Given the description of an element on the screen output the (x, y) to click on. 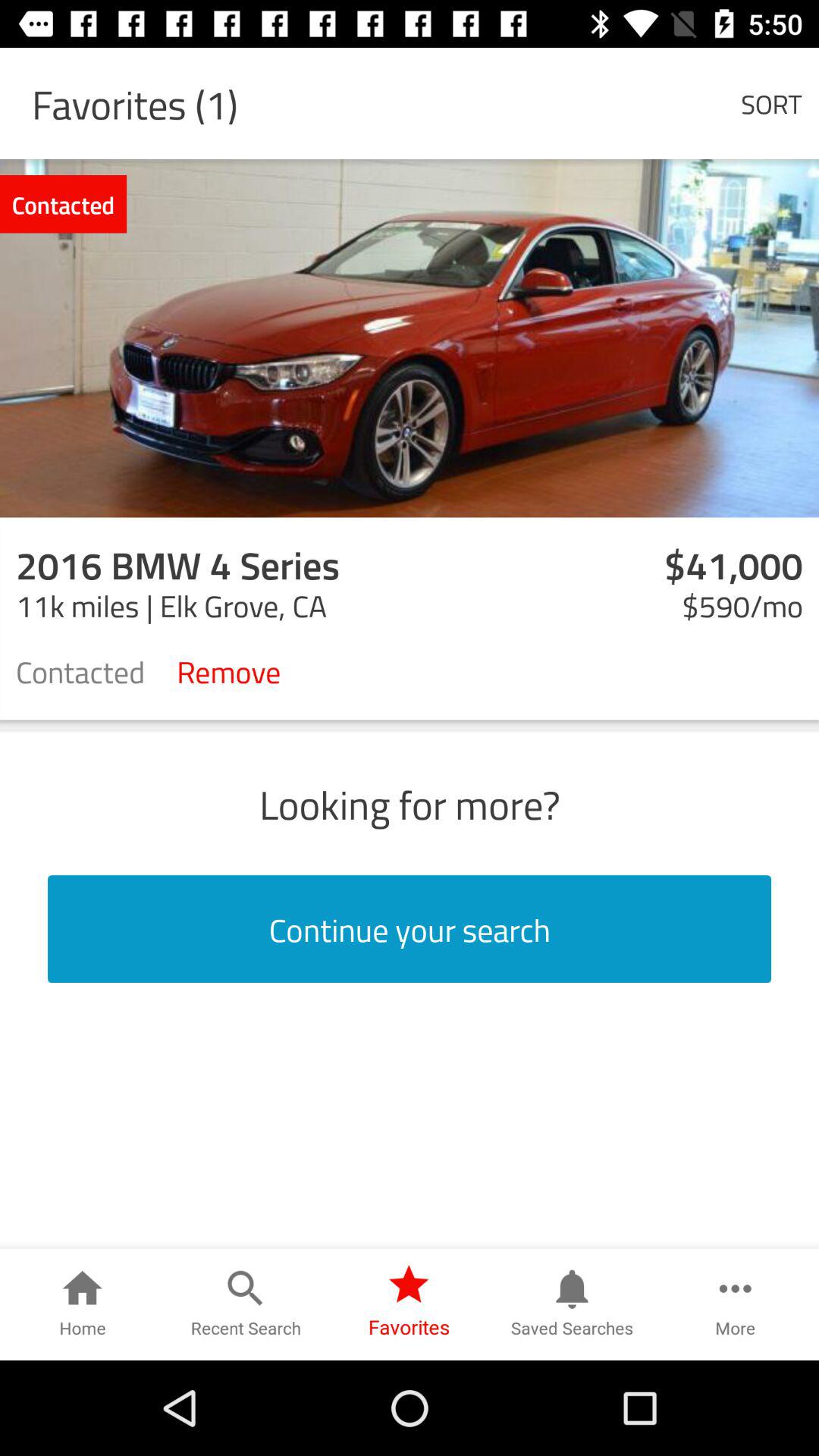
select icon to the left of $590/mo (228, 671)
